Given the description of an element on the screen output the (x, y) to click on. 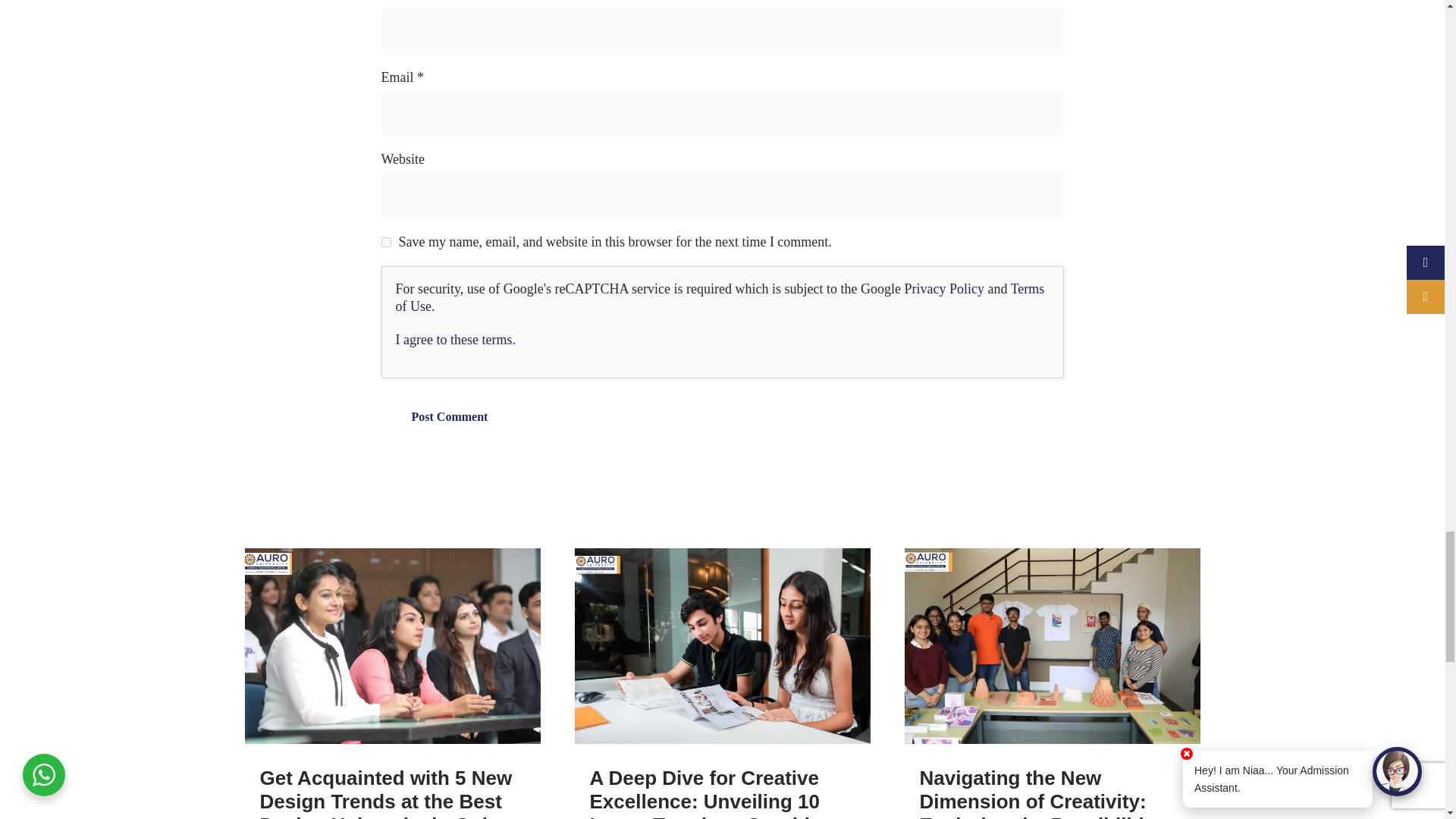
yes (385, 242)
Post Comment (449, 417)
